Given the description of an element on the screen output the (x, y) to click on. 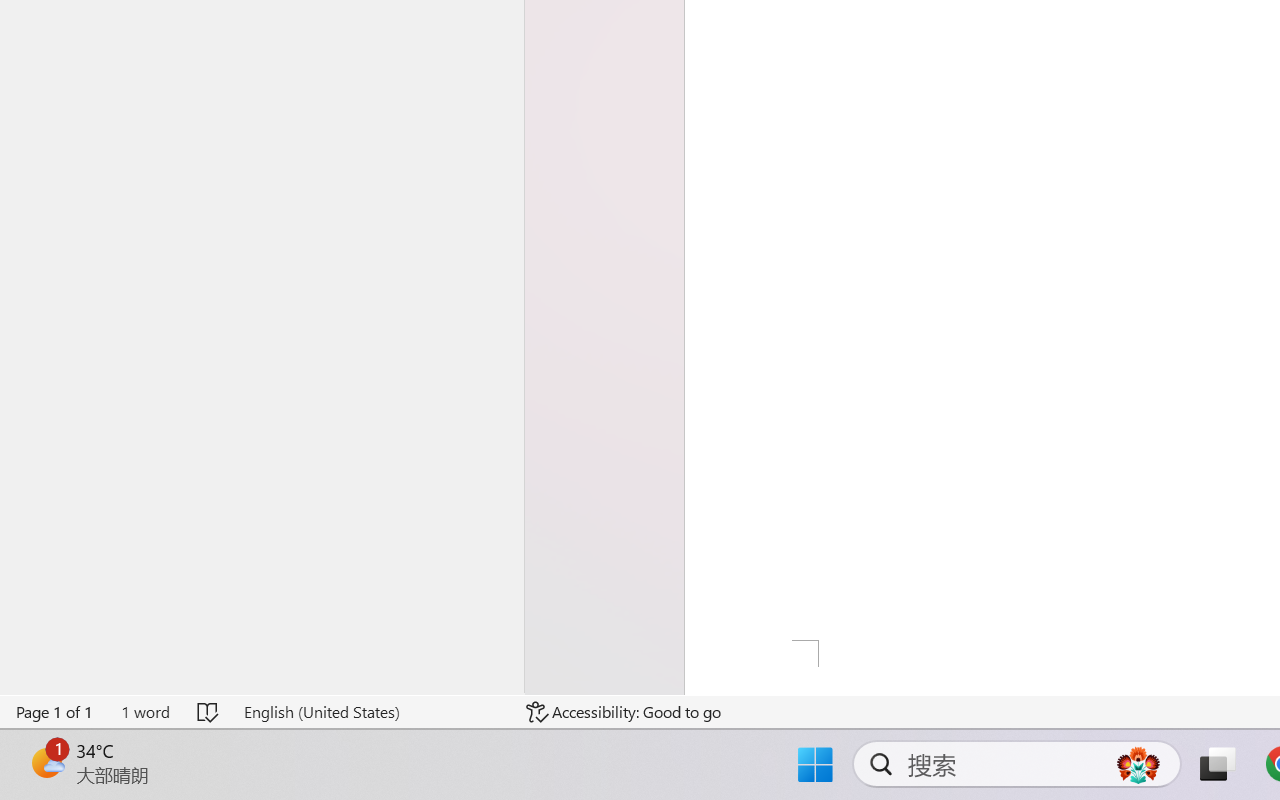
Accessibility Checker Accessibility: Good to go (623, 712)
Page Number Page 1 of 1 (55, 712)
Word Count 1 word (145, 712)
AutomationID: DynamicSearchBoxGleamImage (1138, 764)
Language English (United States) (370, 712)
AutomationID: BadgeAnchorLargeTicker (46, 762)
Spelling and Grammar Check No Errors (208, 712)
